Given the description of an element on the screen output the (x, y) to click on. 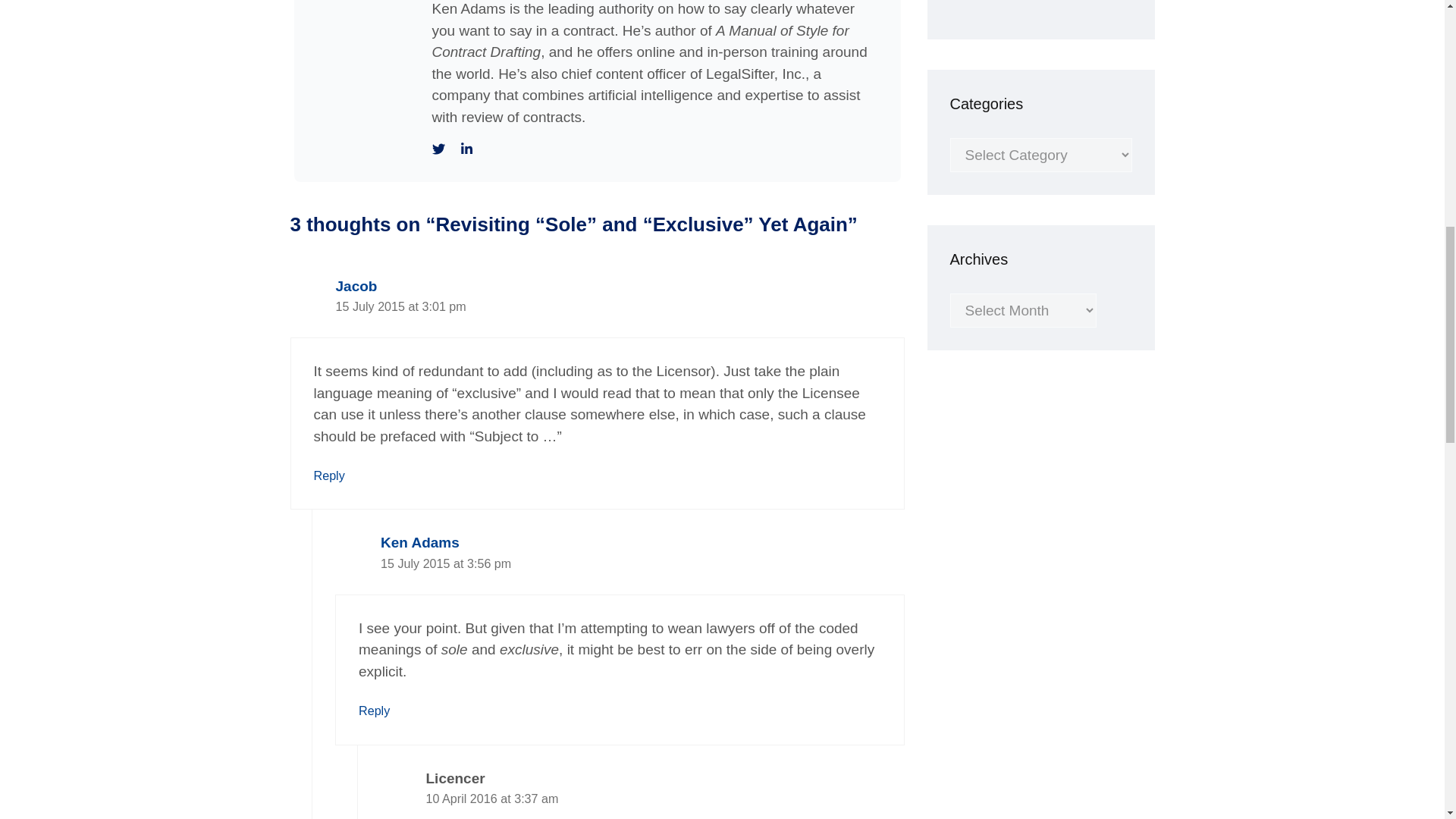
Scroll back to top (1406, 720)
Jacob (355, 286)
15 July 2015 at 3:56 pm (445, 563)
Ken Adams (420, 542)
10 April 2016 at 3:37 am (492, 798)
Reply (374, 710)
Reply (329, 475)
15 July 2015 at 3:01 pm (399, 305)
